Given the description of an element on the screen output the (x, y) to click on. 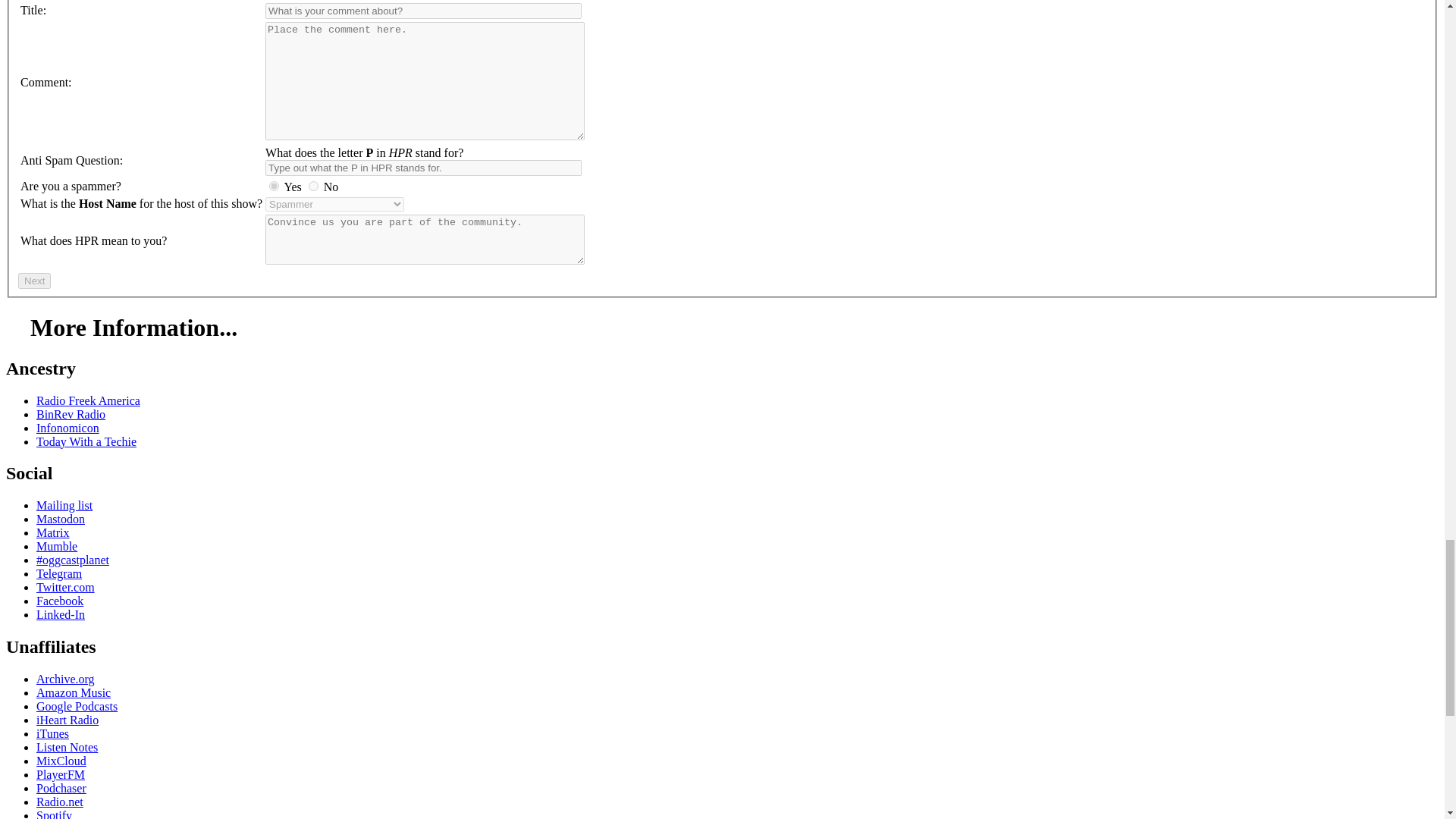
Yes (274, 185)
No (313, 185)
Next (33, 280)
